Given the description of an element on the screen output the (x, y) to click on. 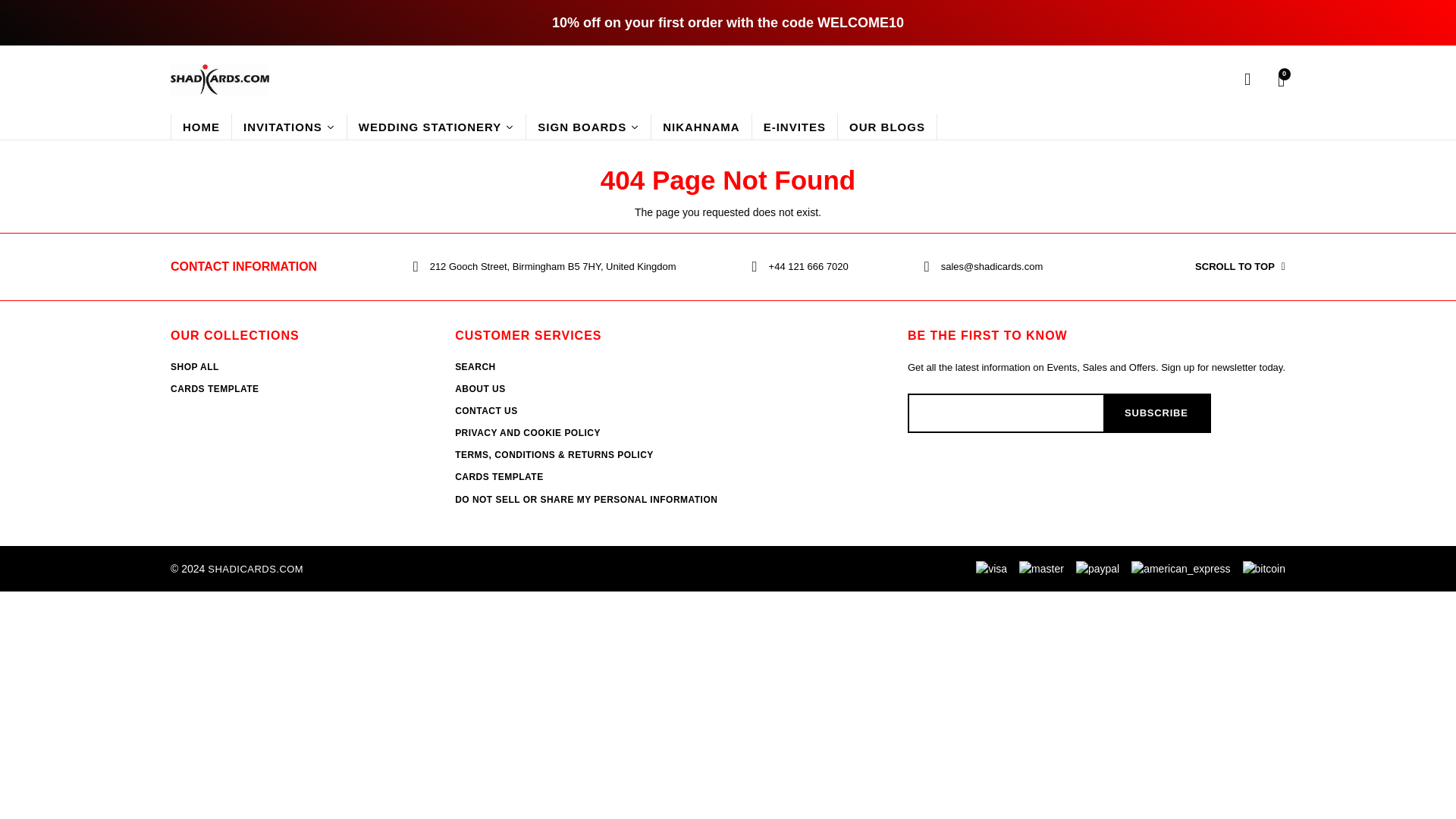
INVITATIONS (288, 126)
INVITATIONS (288, 126)
WEDDING STATIONERY (435, 126)
SCROLL TO TOP (1192, 266)
E-INVITES (794, 126)
CARDS TEMPLATE (214, 388)
OUR BLOGS (887, 126)
HOME (200, 126)
E-INVITES (794, 126)
SEARCH (475, 366)
